Given the description of an element on the screen output the (x, y) to click on. 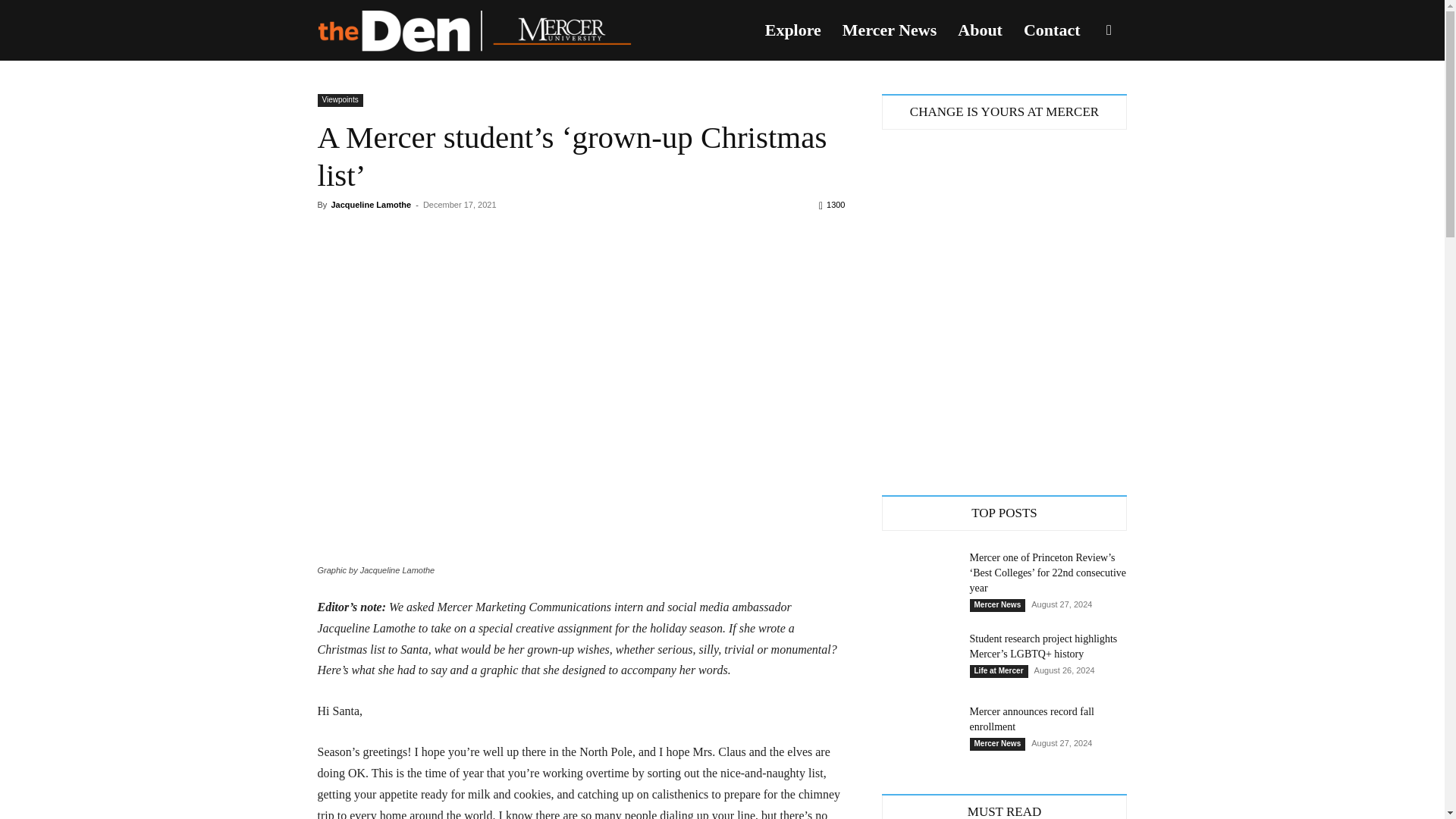
Explore (792, 30)
Search (1085, 102)
Jacqueline Lamothe (370, 204)
Contact (1051, 30)
About (980, 30)
Viewpoints (339, 100)
The Den (473, 30)
Mercer News (889, 30)
